Given the description of an element on the screen output the (x, y) to click on. 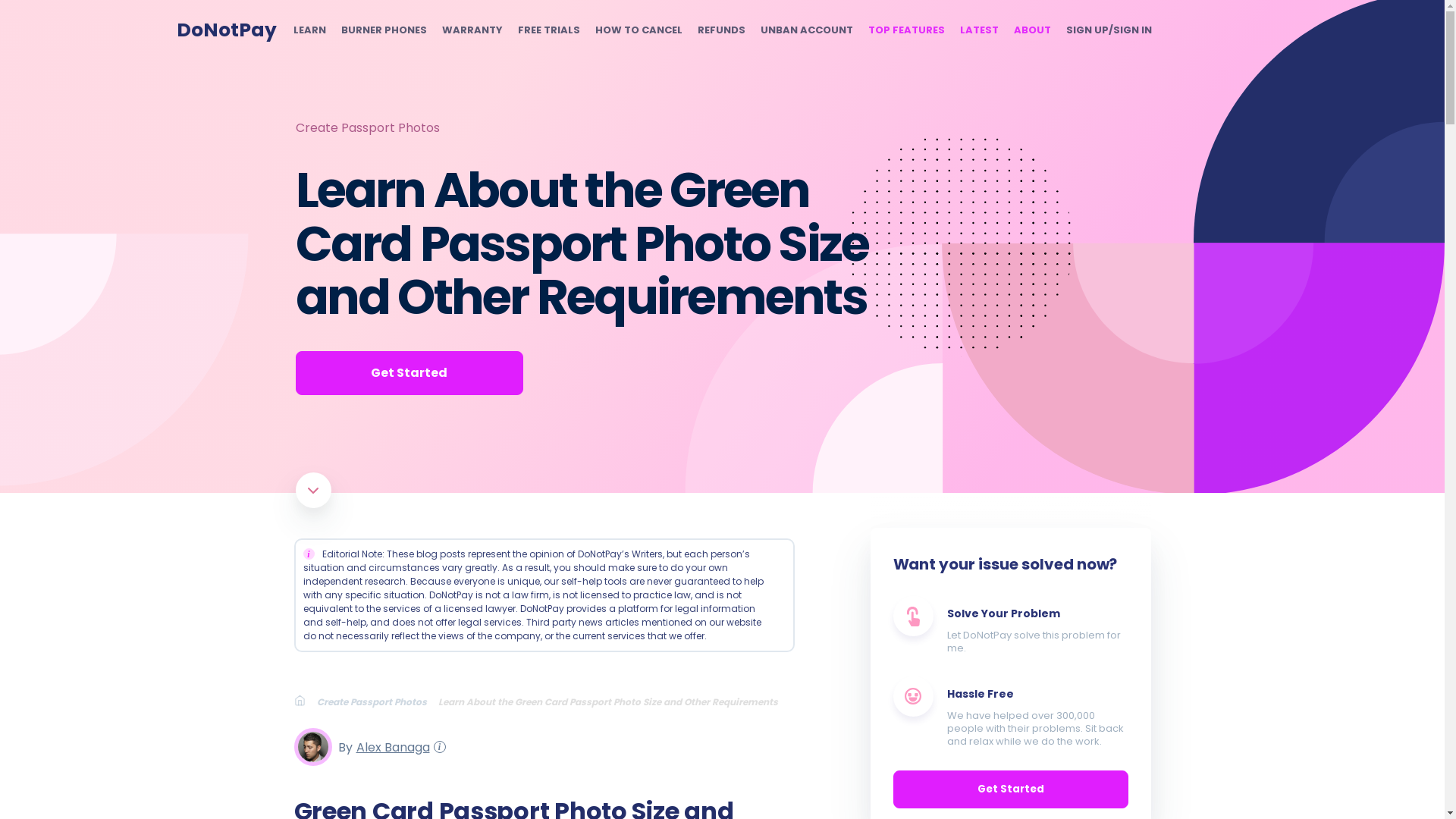
LEARN (308, 29)
Get Started (408, 372)
DoNotPay (226, 29)
WARRANTY (471, 29)
Alex Banaga (390, 746)
TOP FEATURES (905, 29)
Create Passport Photos (377, 700)
ABOUT (1031, 29)
HOW TO CANCEL (637, 29)
LATEST (978, 29)
